Given the description of an element on the screen output the (x, y) to click on. 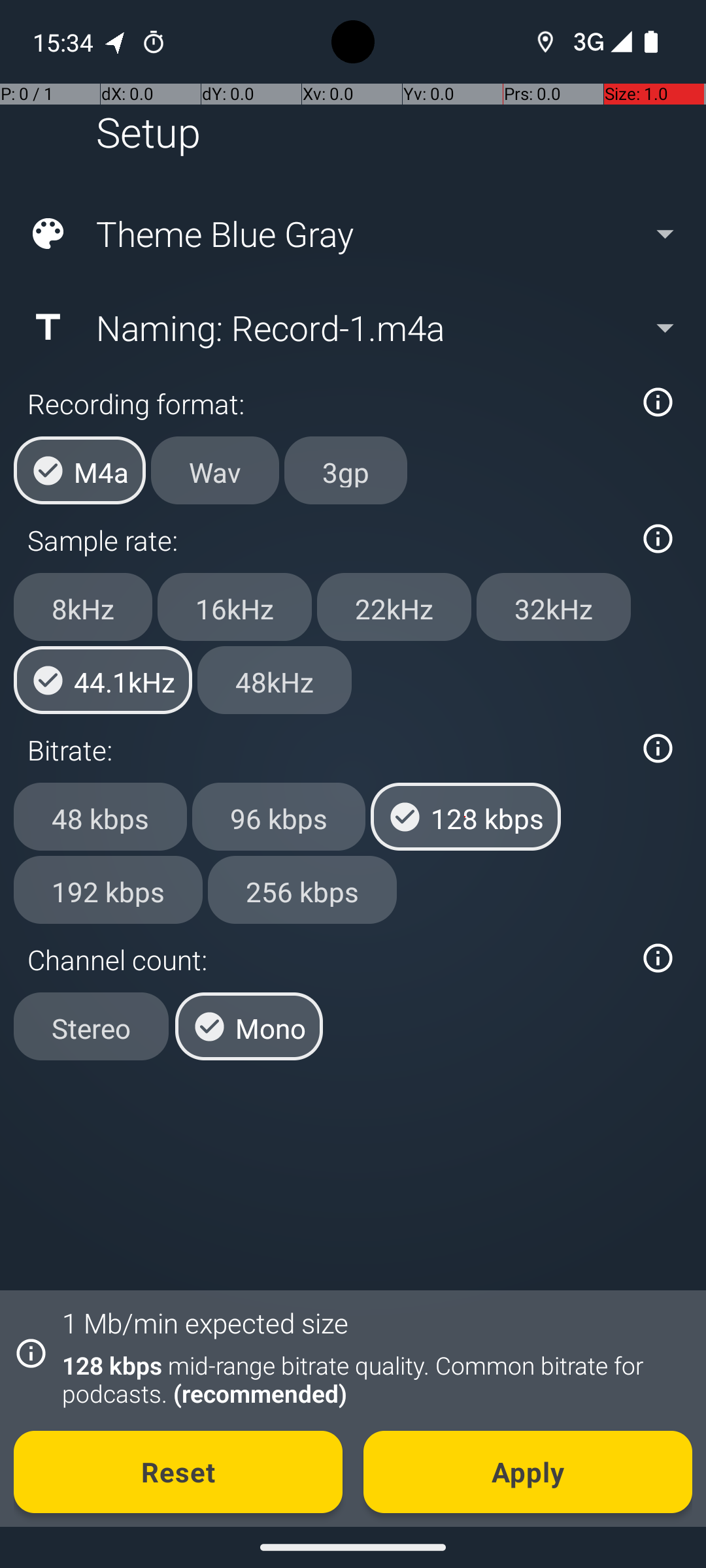
128 kbps mid-range bitrate quality. Common bitrate for podcasts. (recommended) Element type: android.widget.TextView (370, 1378)
3G Element type: android.widget.ImageView (587, 41)
